Given the description of an element on the screen output the (x, y) to click on. 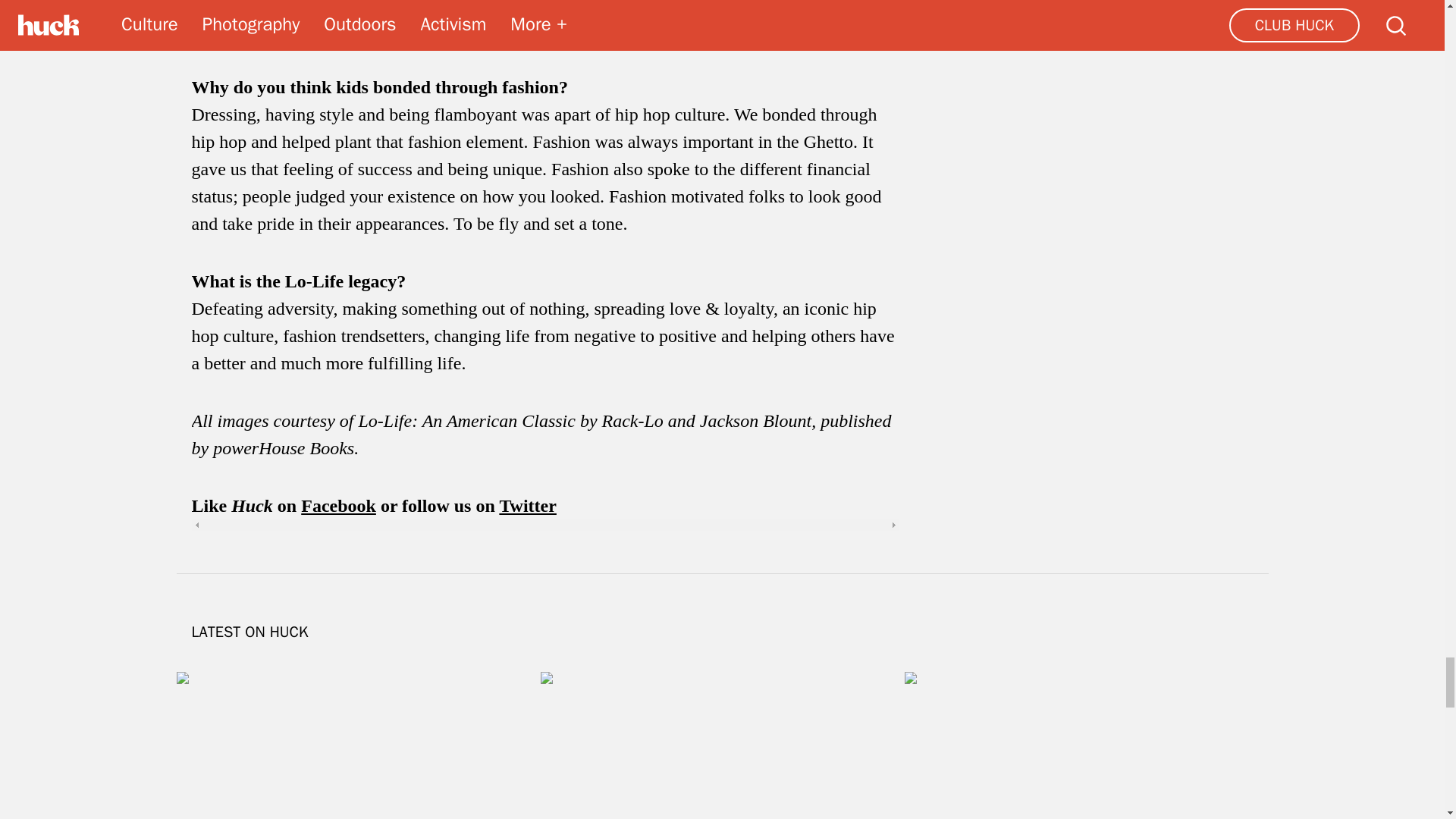
Twitter (527, 505)
Facebook (338, 505)
